Given the description of an element on the screen output the (x, y) to click on. 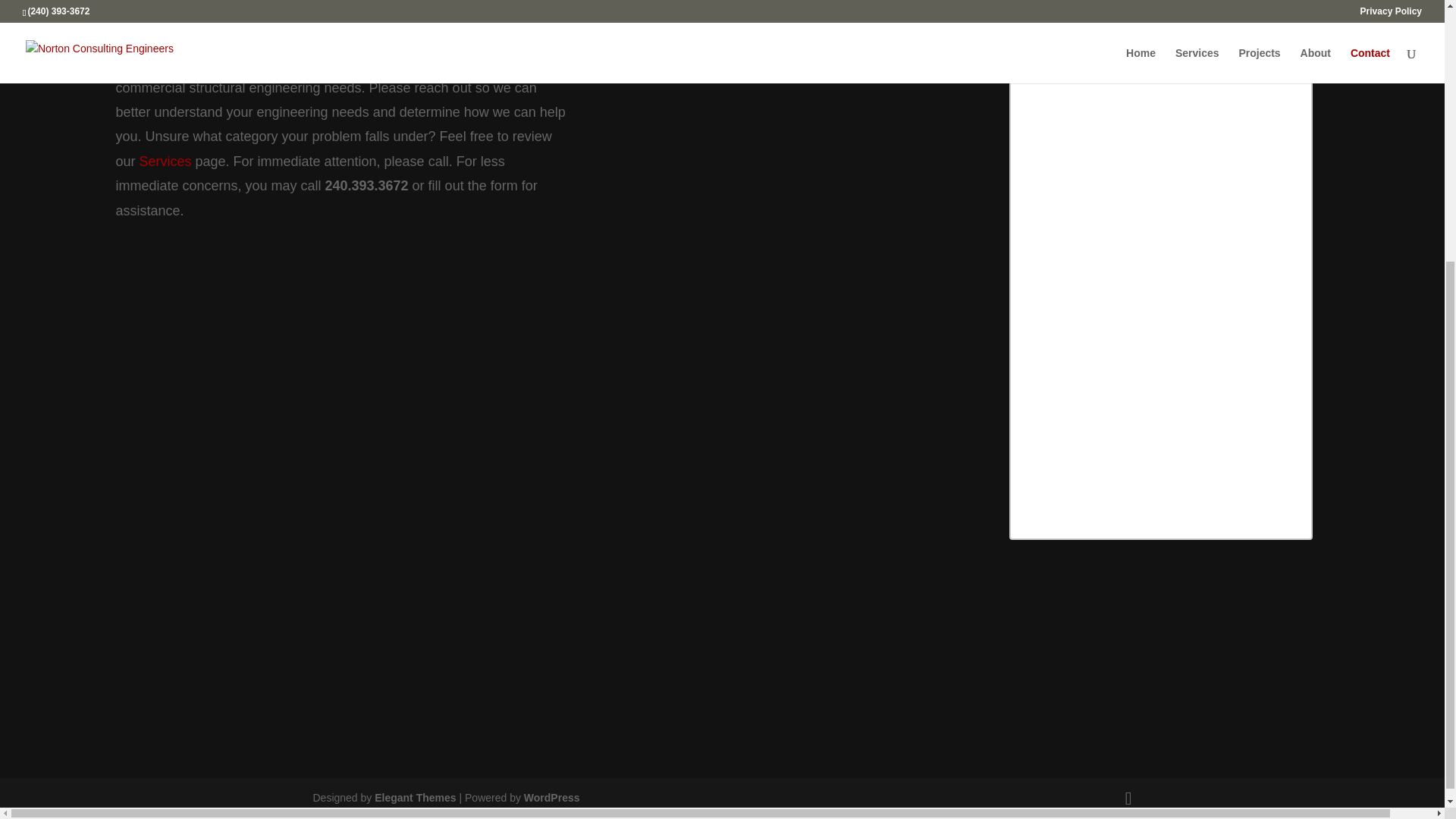
Premium WordPress Themes (414, 797)
WordPress (551, 797)
Services (164, 160)
Elegant Themes (414, 797)
